Given the description of an element on the screen output the (x, y) to click on. 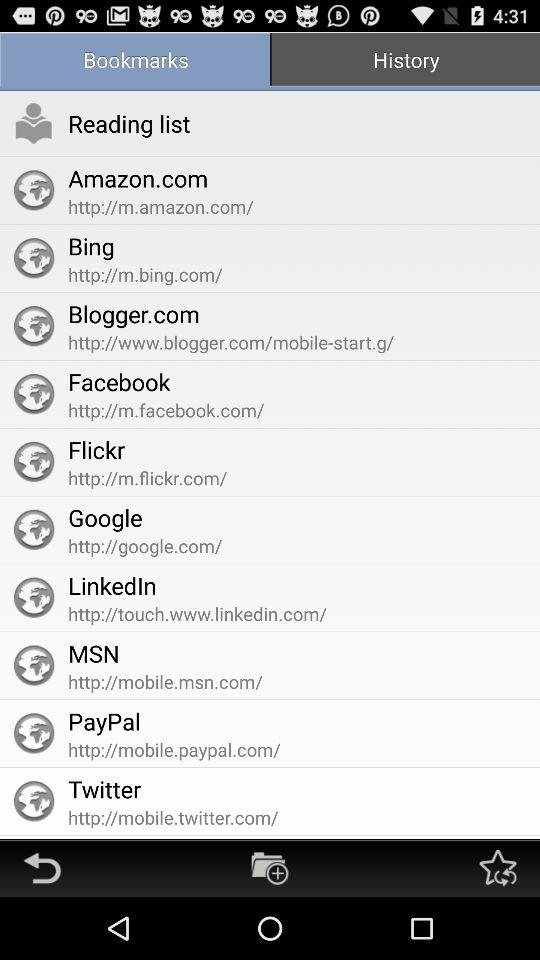
open item next to the reading list icon (34, 123)
